Given the description of an element on the screen output the (x, y) to click on. 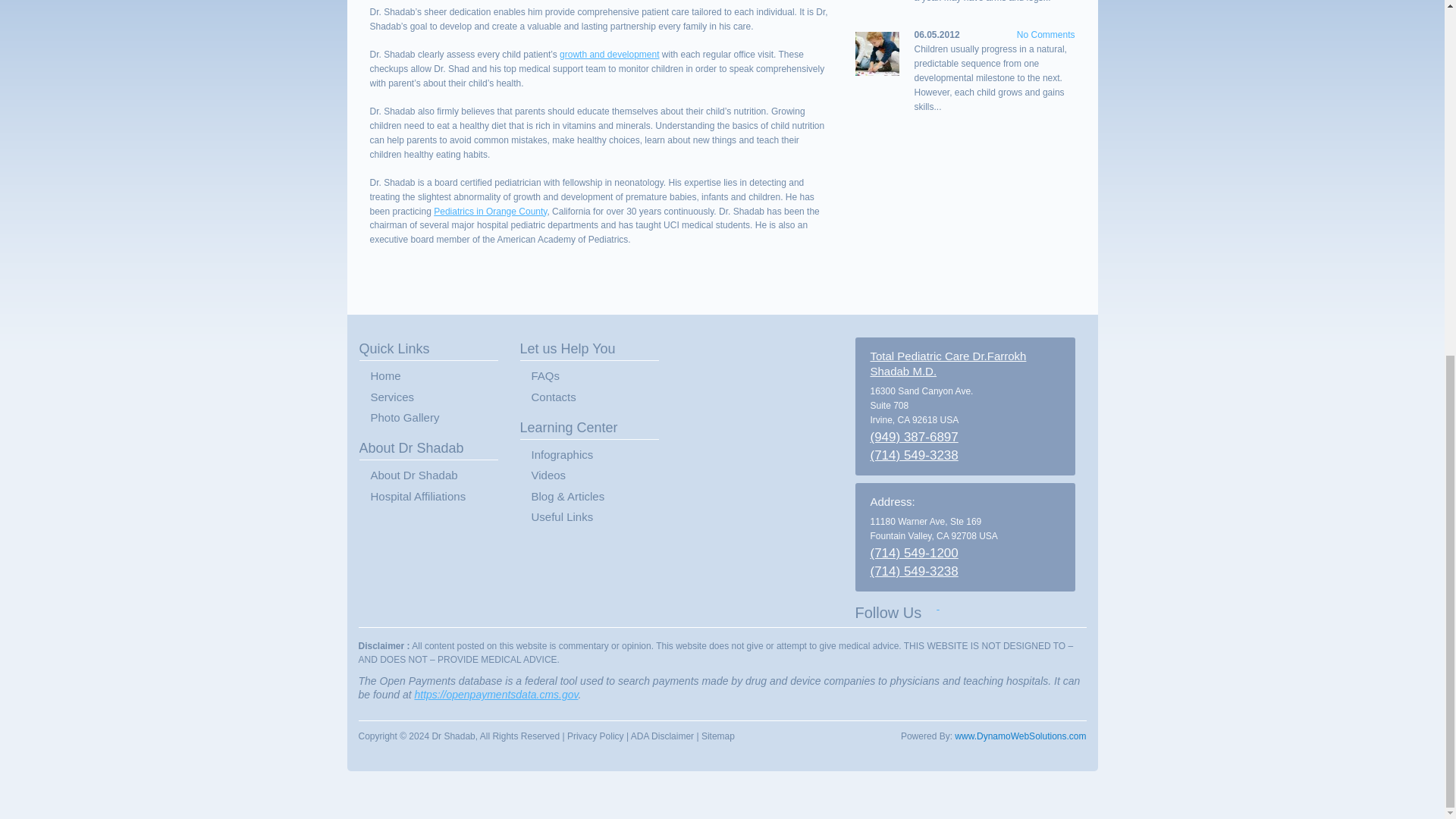
Services (438, 396)
Home (438, 376)
Quick Links (428, 349)
06.05.2012 (936, 34)
Pediatrics in Orange County (490, 211)
Photo Gallery (438, 417)
growth and development (609, 54)
